Given the description of an element on the screen output the (x, y) to click on. 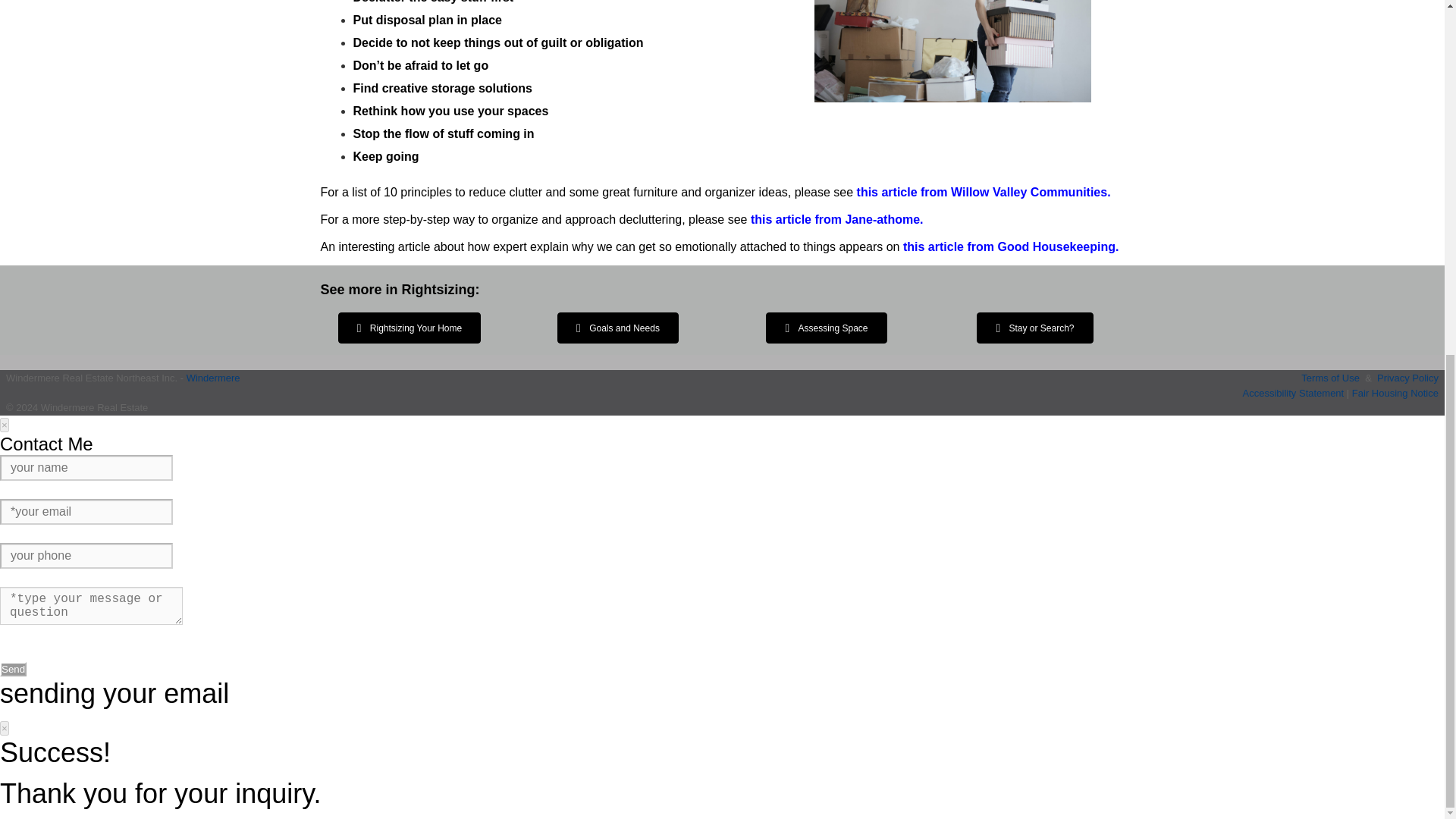
Clutter3 (952, 51)
